Given the description of an element on the screen output the (x, y) to click on. 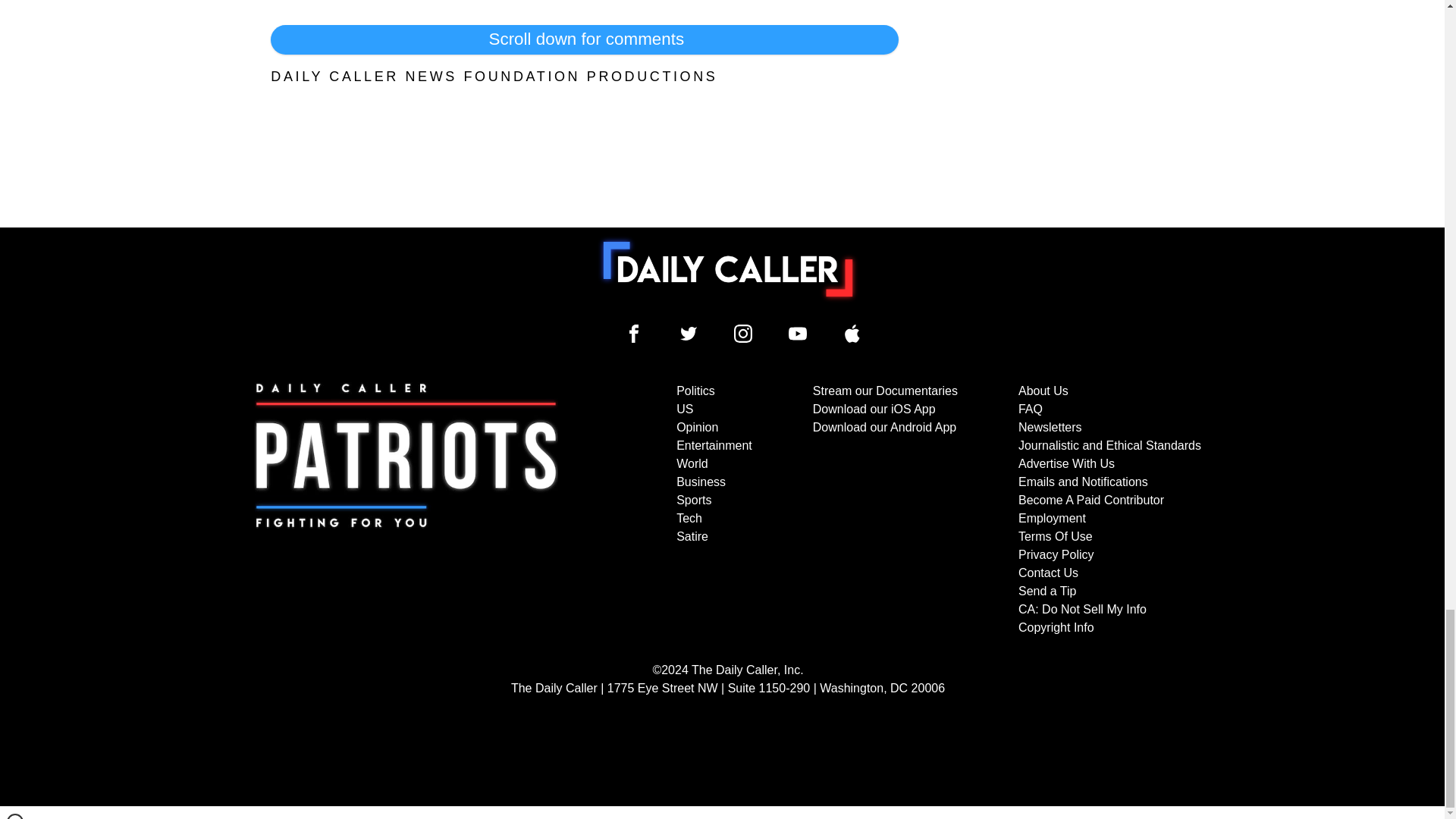
Daily Caller YouTube (797, 333)
Daily Caller Twitter (688, 333)
Subscribe to The Daily Caller (405, 509)
Daily Caller YouTube (852, 333)
Scroll down for comments (584, 39)
Daily Caller Facebook (633, 333)
To home page (727, 268)
Daily Caller Instagram (742, 333)
